Given the description of an element on the screen output the (x, y) to click on. 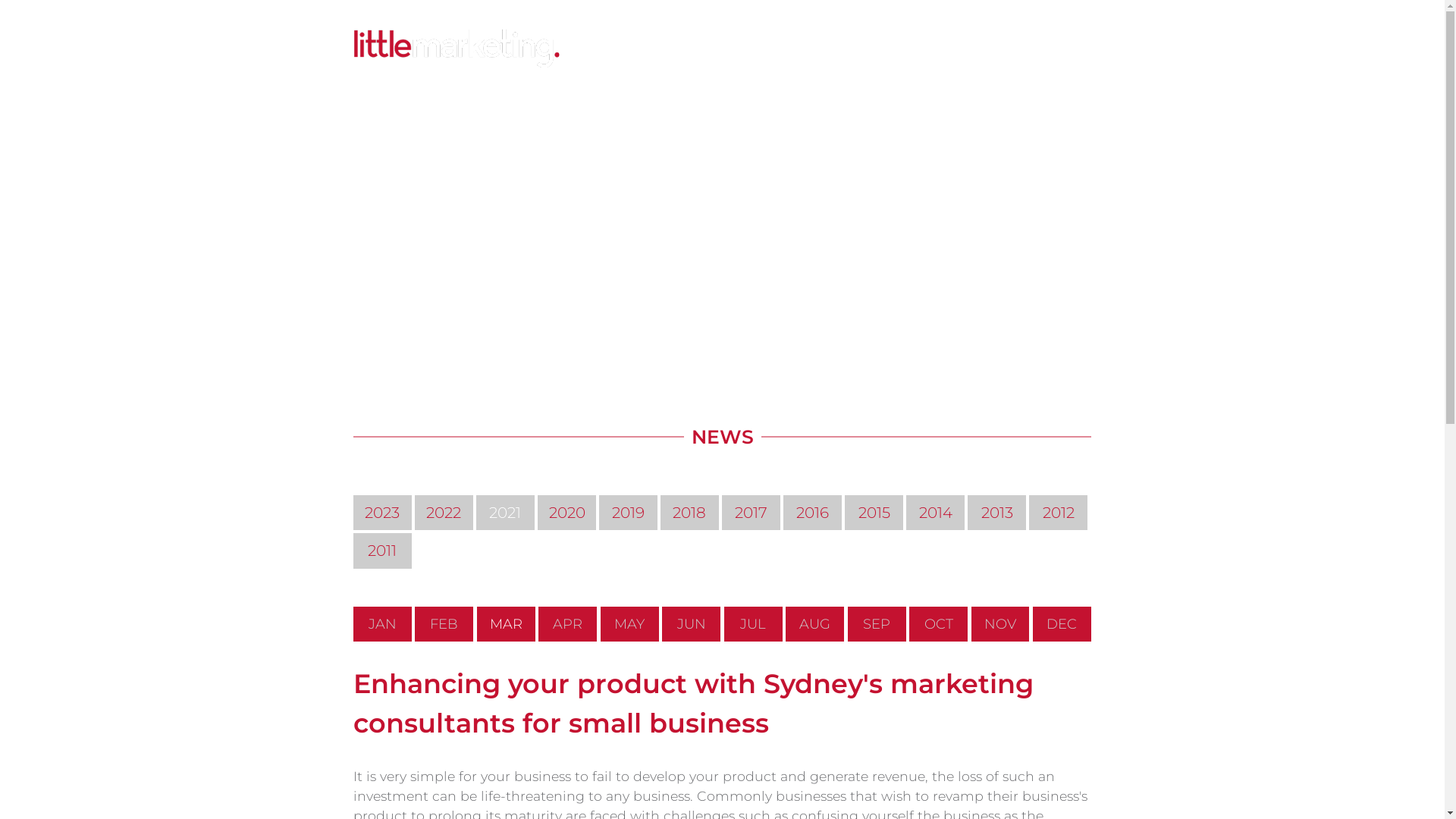
JUL Element type: text (753, 623)
OCT Element type: text (938, 623)
NOV Element type: text (1000, 623)
2023 Element type: text (382, 511)
SEP Element type: text (876, 623)
2014 Element type: text (935, 511)
IN THE MEDIA Element type: text (708, 49)
2012 Element type: text (1058, 511)
2022 Element type: text (443, 511)
2019 Element type: text (628, 511)
2015 Element type: text (873, 511)
2013 Element type: text (996, 511)
2016 Element type: text (812, 511)
OUR BOOK Element type: text (790, 49)
2021 Element type: text (505, 511)
JAN Element type: text (382, 623)
REVIEWS Element type: text (953, 49)
APR Element type: text (567, 623)
2018 Element type: text (689, 511)
2020 Element type: text (566, 511)
CONTACT Element type: text (1016, 49)
2011 Element type: text (382, 550)
SERVICES Element type: text (632, 49)
OUR PODCAST Element type: text (875, 49)
2017 Element type: text (750, 511)
FEB Element type: text (443, 623)
MAR Element type: text (505, 623)
AUG Element type: text (814, 623)
DEC Element type: text (1061, 623)
MAY Element type: text (629, 623)
JUN Element type: text (691, 623)
